Given the description of an element on the screen output the (x, y) to click on. 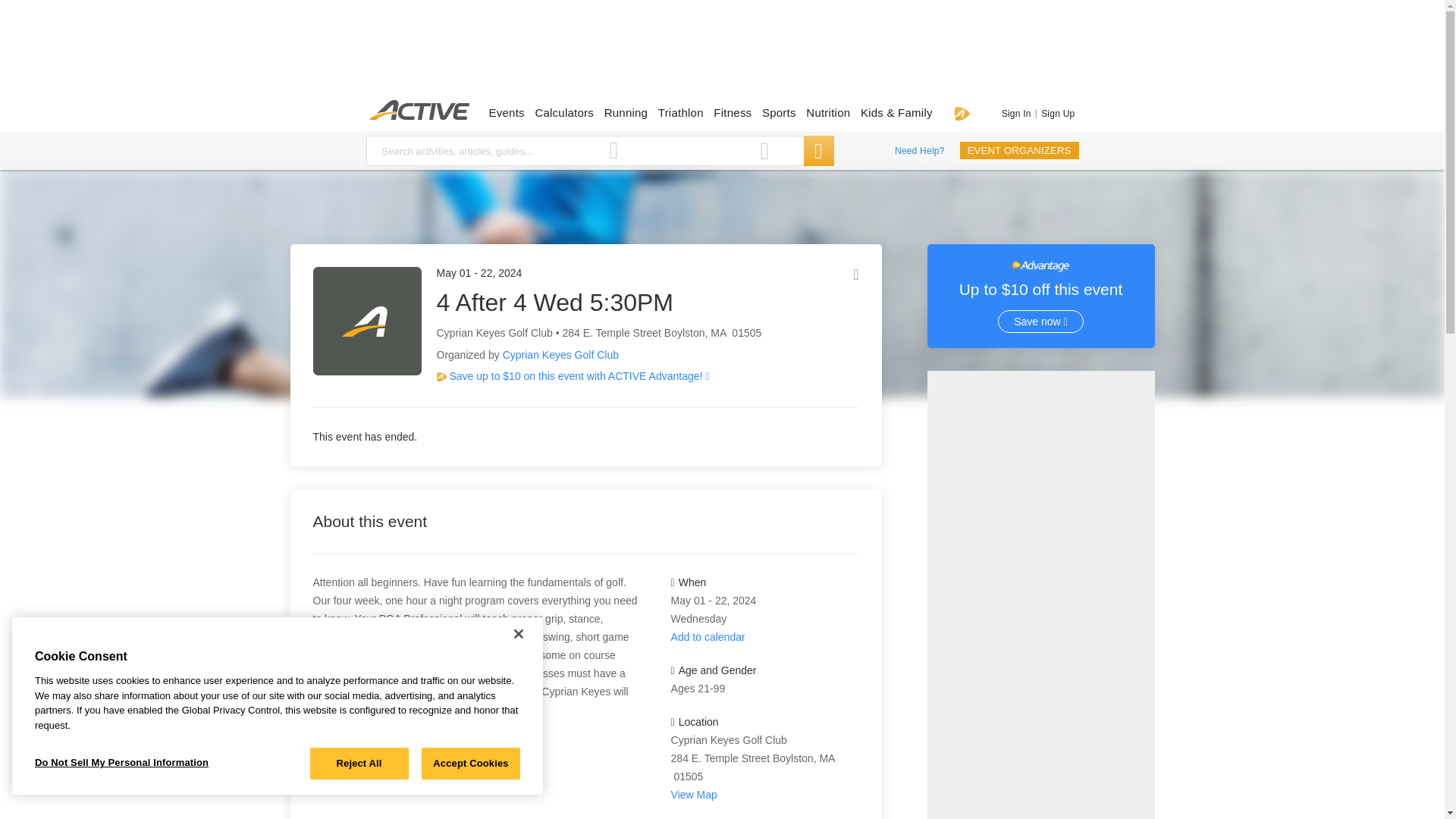
3rd party ad content (1040, 595)
Go Premium (961, 113)
Learn more about event advantage information! (637, 377)
3rd party ad content (721, 53)
